Given the description of an element on the screen output the (x, y) to click on. 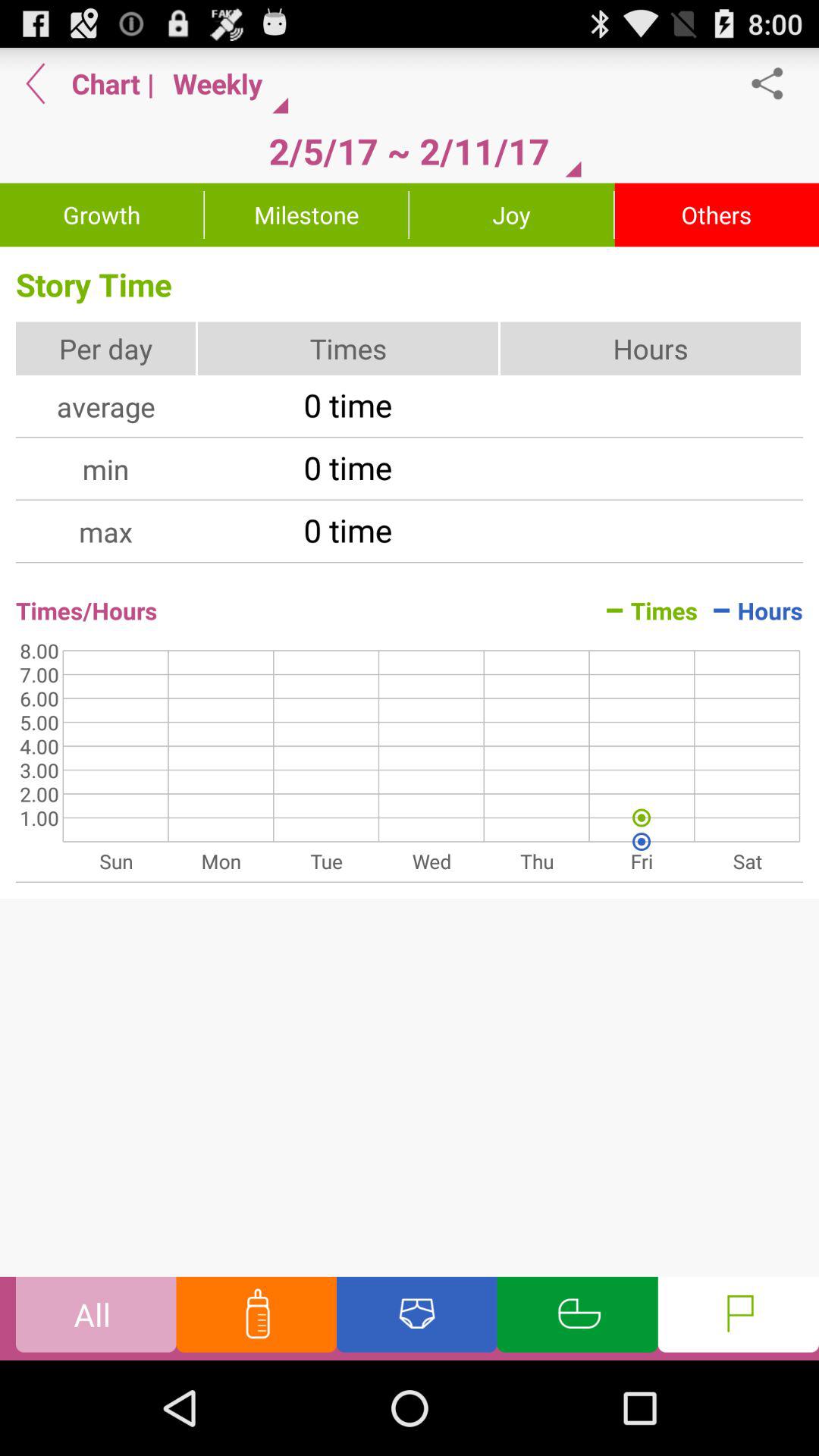
click the item above milestone button (409, 151)
